Given the description of an element on the screen output the (x, y) to click on. 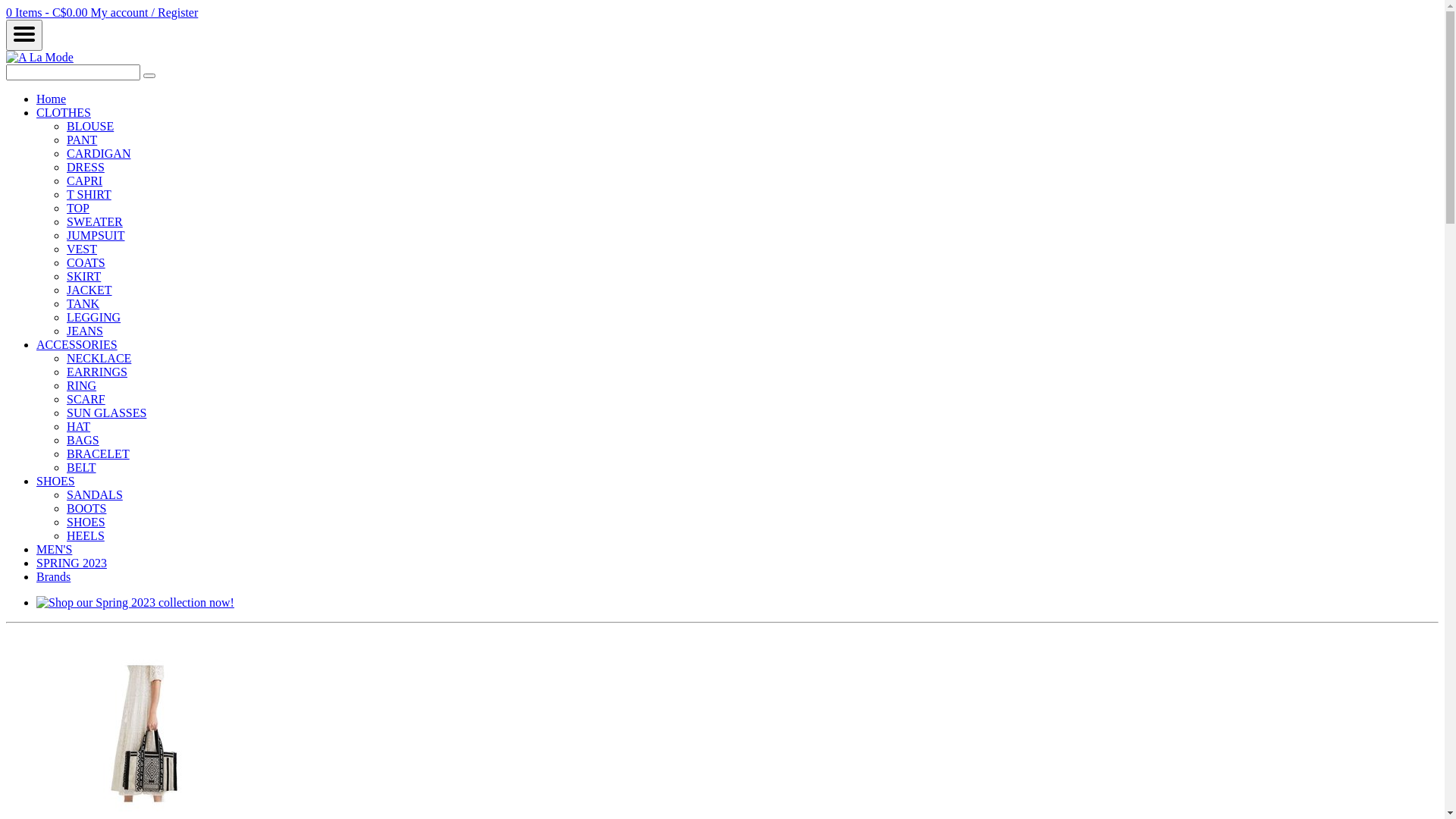
SPRING 2023 Element type: text (71, 562)
PANT Element type: text (81, 139)
BOOTS Element type: text (86, 508)
HAT Element type: text (78, 426)
CLOTHES Element type: text (63, 112)
HEELS Element type: text (85, 535)
BRACELET Element type: text (97, 453)
BAGS Element type: text (82, 439)
SHOES Element type: text (85, 521)
BLOUSE Element type: text (89, 125)
NECKLACE Element type: text (98, 357)
EARRINGS Element type: text (96, 371)
RING Element type: text (81, 385)
My account / Register Element type: text (144, 12)
SKIRT Element type: text (83, 275)
SHOES Element type: text (55, 480)
JACKET Element type: text (89, 289)
Home Element type: text (50, 98)
BELT Element type: text (81, 467)
TOP Element type: text (77, 207)
SWEATER Element type: text (94, 221)
JUMPSUIT Element type: text (95, 235)
DRESS Element type: text (85, 166)
CARDIGAN Element type: text (98, 153)
LEGGING Element type: text (93, 316)
A La Mode Element type: hover (39, 56)
JEANS Element type: text (84, 330)
MEN'S Element type: text (54, 548)
T SHIRT Element type: text (88, 194)
Shop  our Spring 2023 collection now! Element type: hover (135, 602)
COATS Element type: text (85, 262)
TANK Element type: text (82, 303)
CAPRI Element type: text (84, 180)
VEST Element type: text (81, 248)
Search Element type: hover (149, 75)
SCARF Element type: text (85, 398)
SANDALS Element type: text (94, 494)
ACCESSORIES Element type: text (76, 344)
0 Items - C$0.00 Element type: text (48, 12)
SUN GLASSES Element type: text (106, 412)
Brands Element type: text (53, 576)
